Given the description of an element on the screen output the (x, y) to click on. 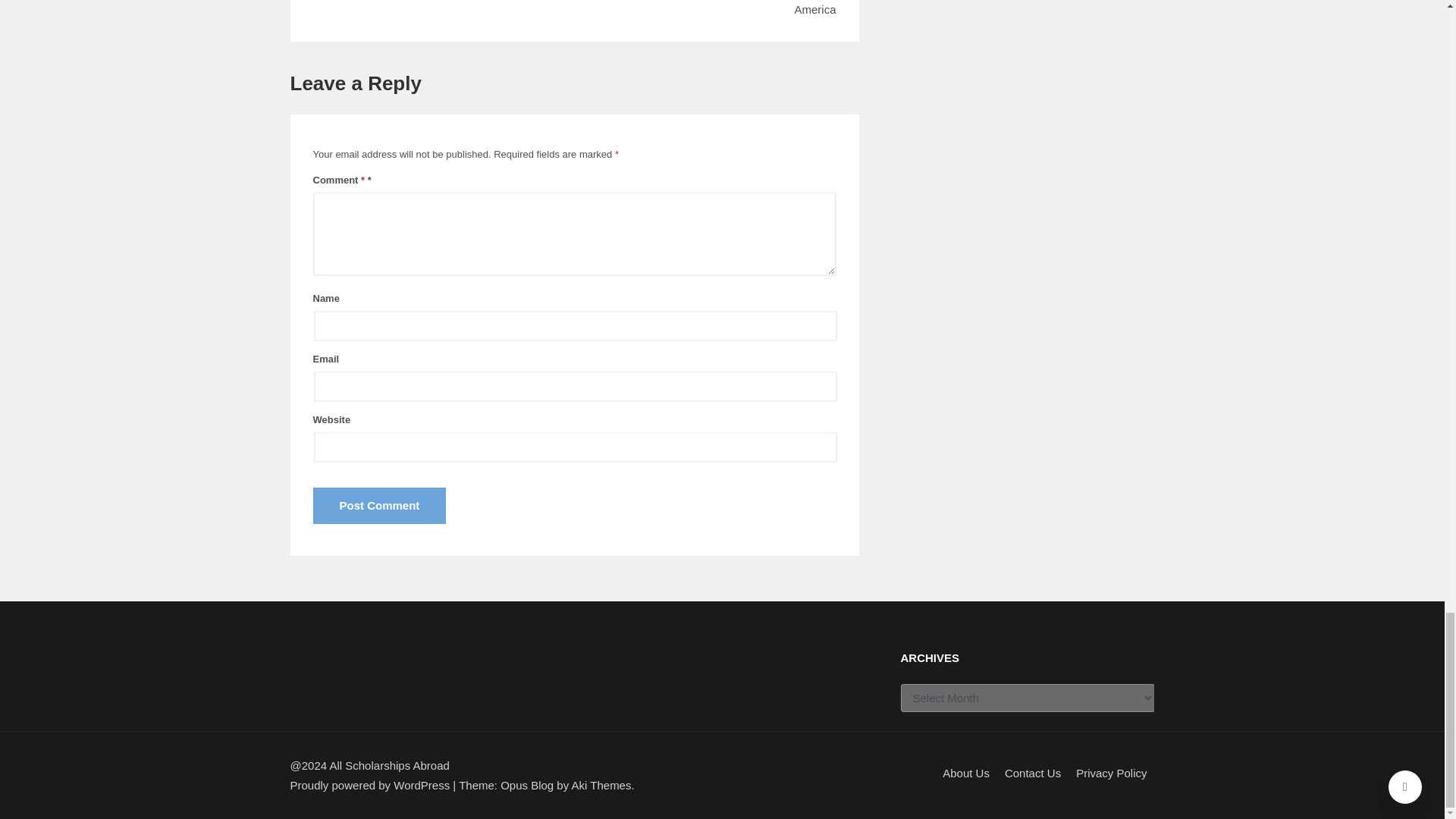
Post Comment (379, 505)
